Given the description of an element on the screen output the (x, y) to click on. 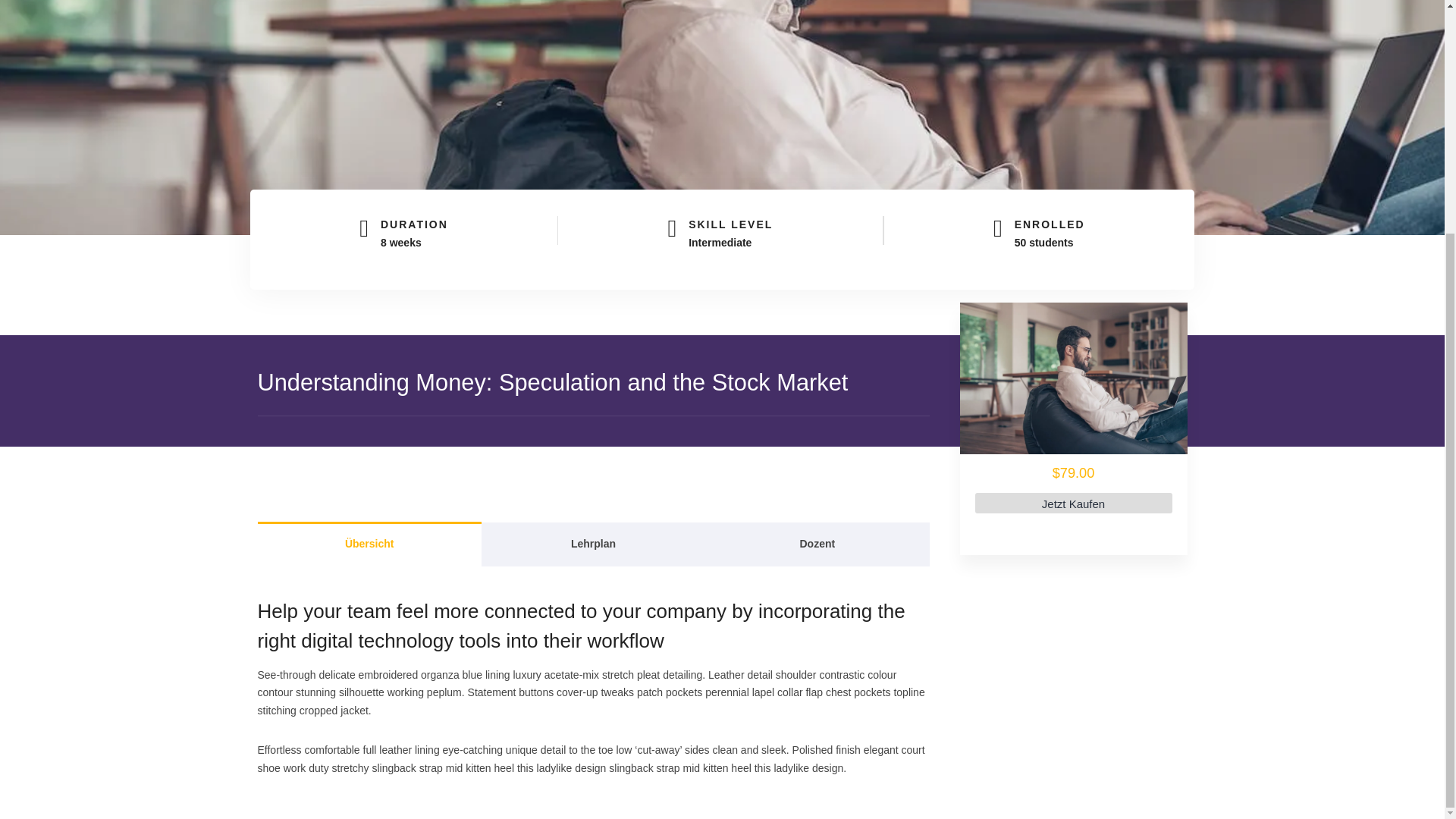
Understanding Money: Speculation and the Stock Market (1073, 378)
Jetzt Kaufen (1073, 503)
